Given the description of an element on the screen output the (x, y) to click on. 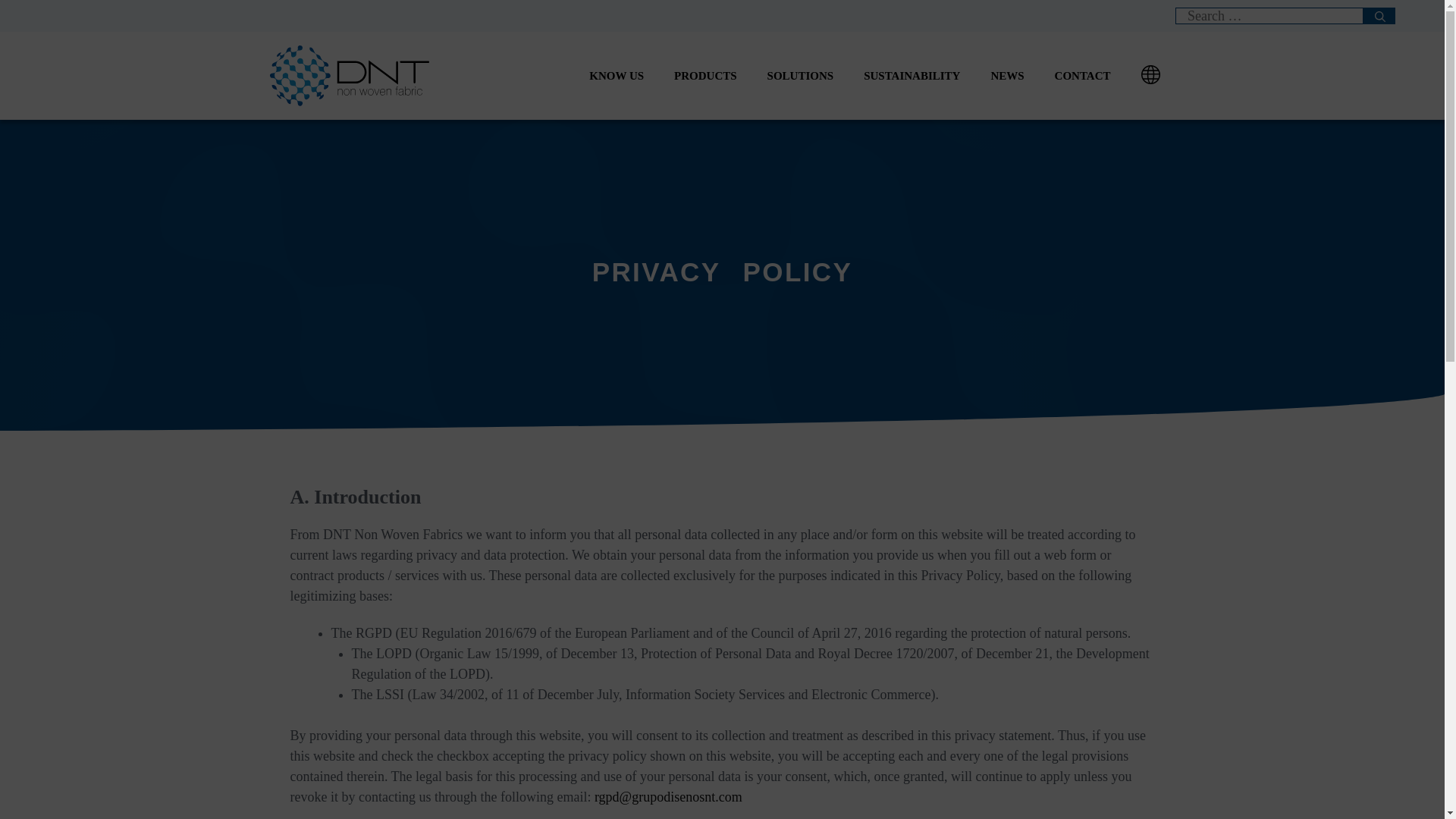
PRODUCTS (705, 75)
SOLUTIONS (800, 75)
CONTACT (1082, 75)
SUSTAINABILITY (911, 75)
NEWS (1007, 75)
KNOW US (616, 75)
Search for: (1268, 15)
